Given the description of an element on the screen output the (x, y) to click on. 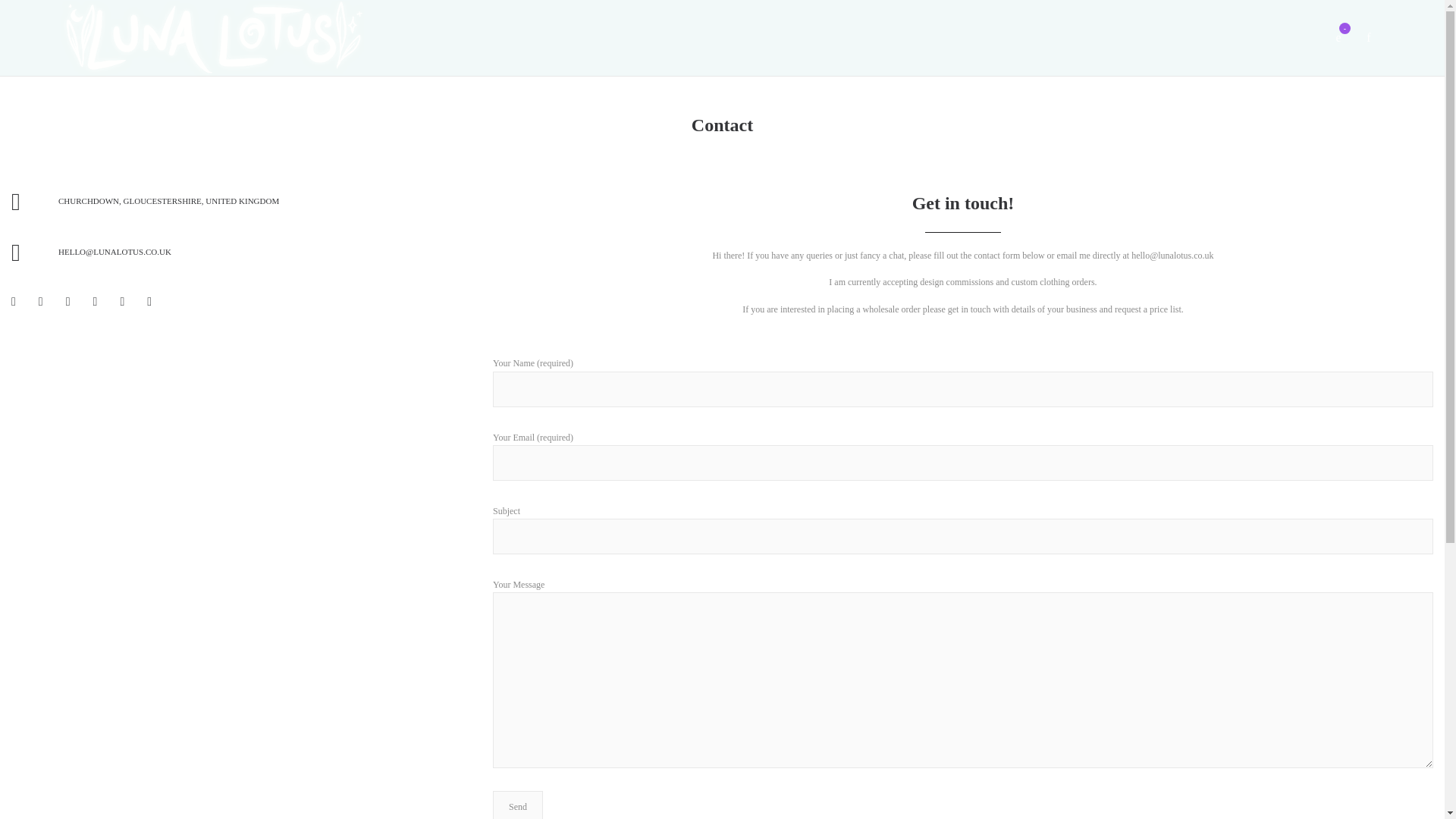
Send (518, 805)
- (1338, 37)
